Given the description of an element on the screen output the (x, y) to click on. 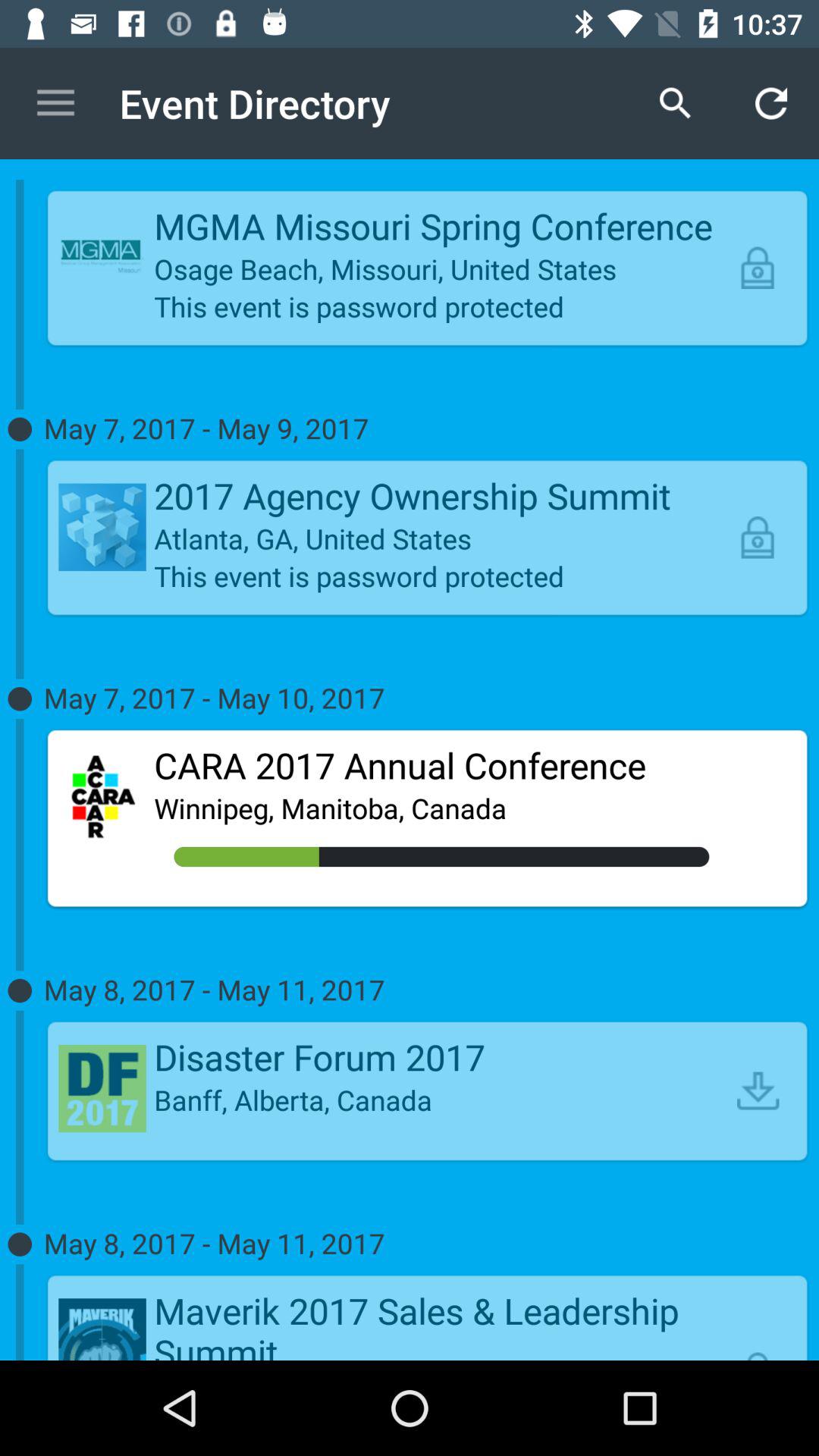
choose app next to the event directory (55, 103)
